Given the description of an element on the screen output the (x, y) to click on. 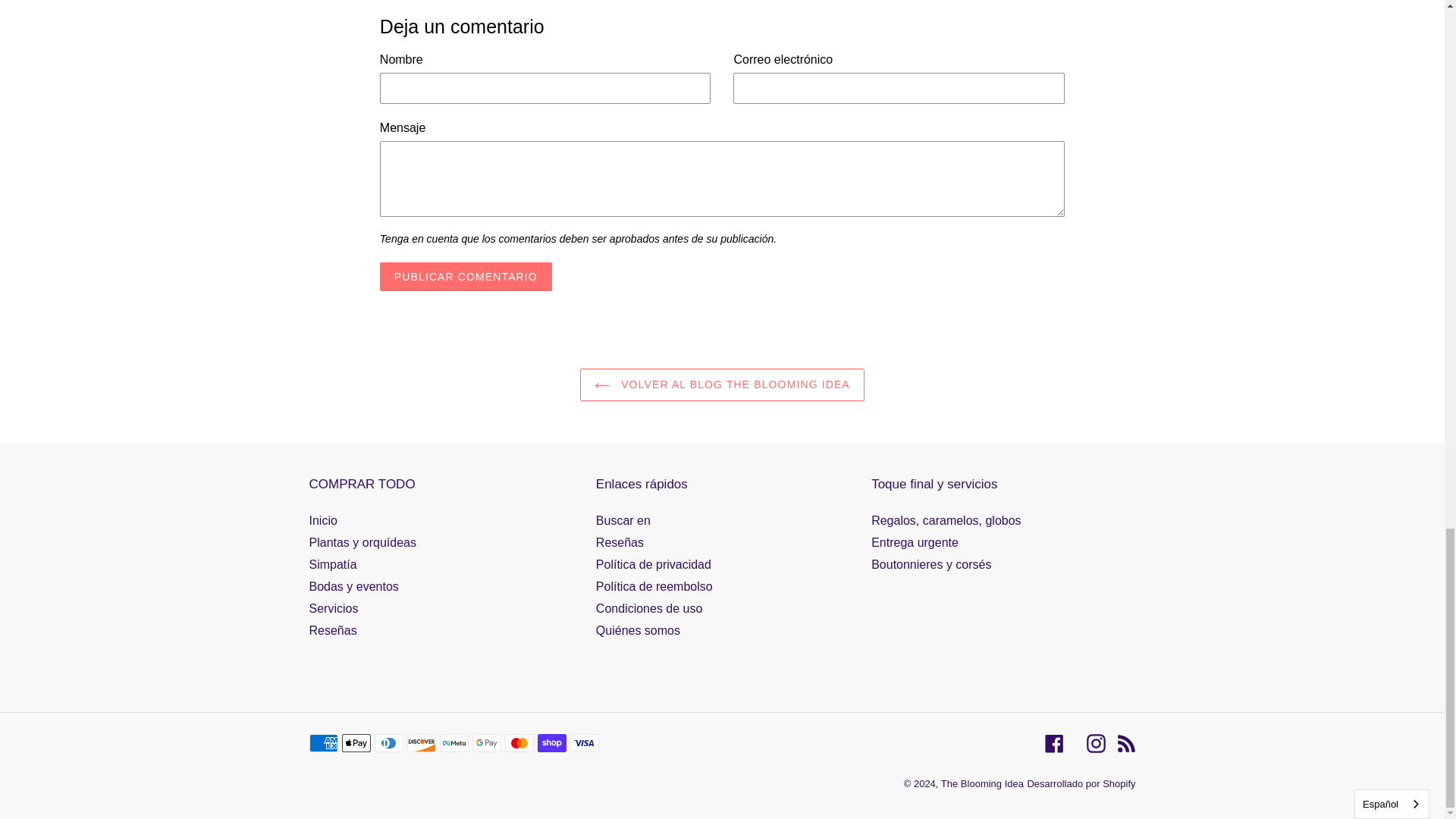
Publicar comentario (465, 276)
VOLVER AL BLOG THE BLOOMING IDEA (721, 384)
Buscar en (622, 520)
Publicar comentario (465, 276)
Servicios (333, 608)
Bodas y eventos (353, 585)
Inicio (322, 520)
